Given the description of an element on the screen output the (x, y) to click on. 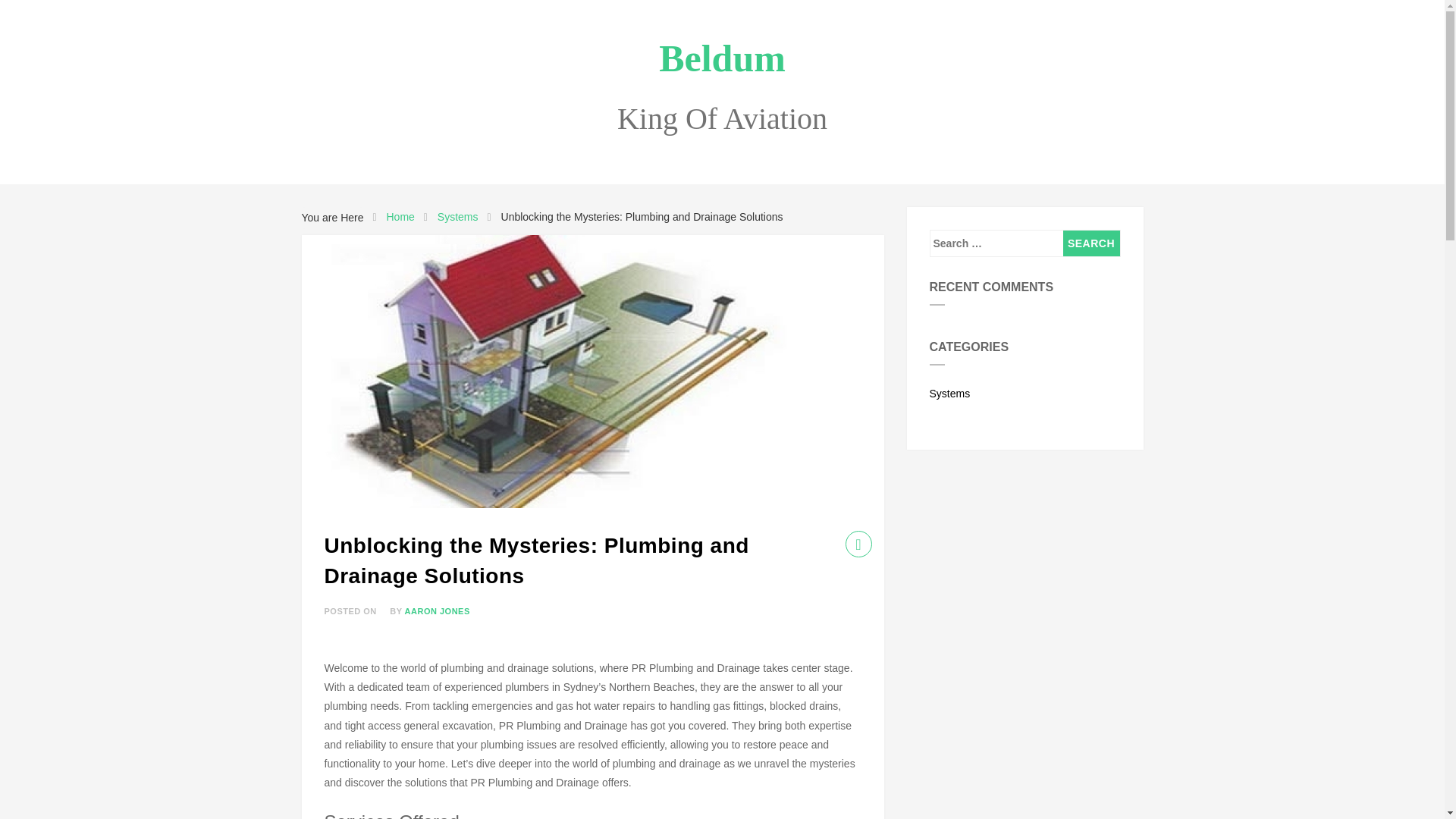
Search (1090, 243)
Beldum (722, 57)
Search (1090, 243)
AARON JONES (437, 610)
Search (1090, 243)
Systems (1025, 389)
Systems (458, 217)
Home (399, 217)
